Given the description of an element on the screen output the (x, y) to click on. 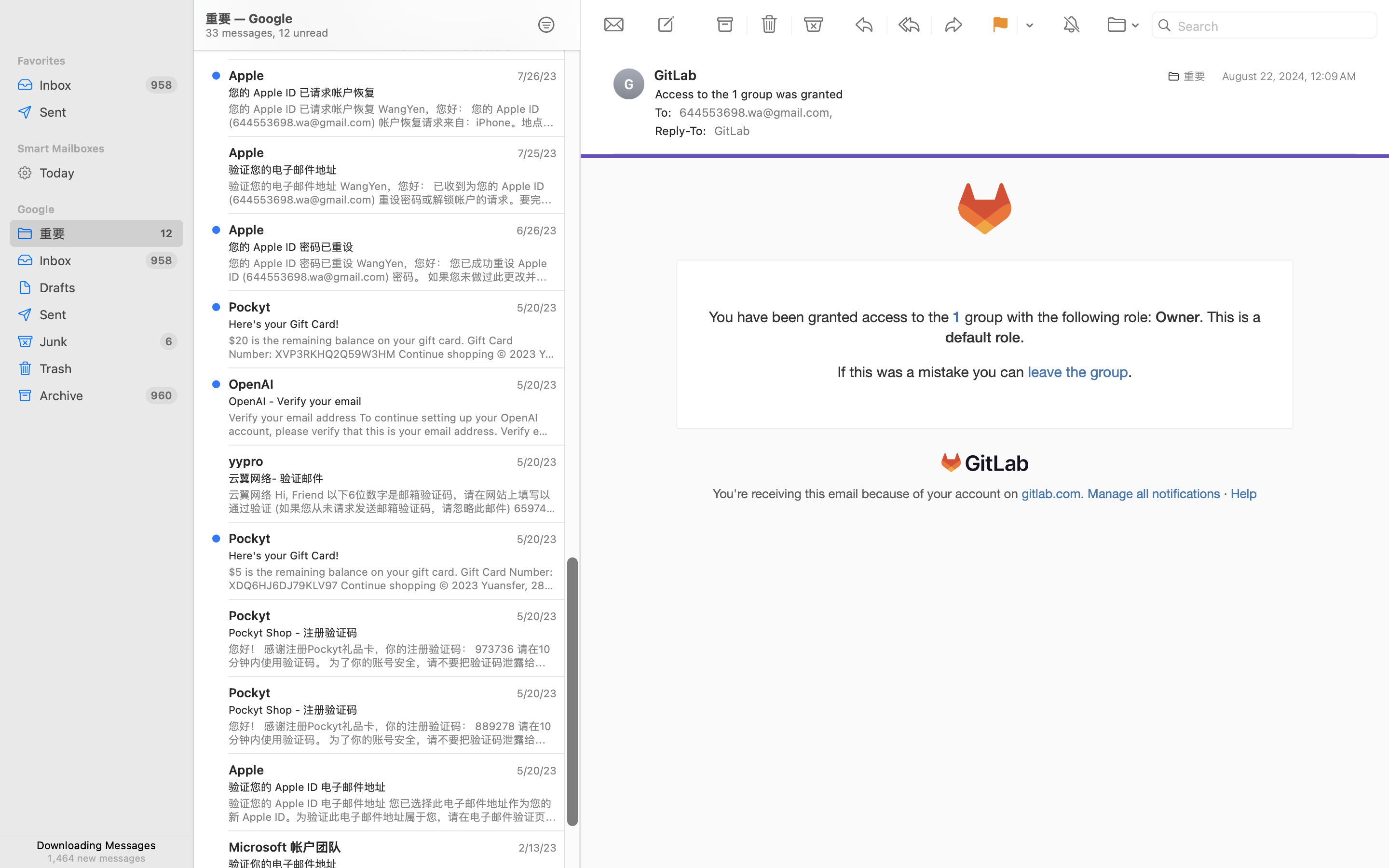
Smart Mailboxes Element type: AXStaticText (96, 148)
gitlab.com Element type: AXStaticText (1051, 493)
您好！ 感谢注册Pockyt礼品卡，你的注册验证码： 889278 请在10分钟内使用验证码。 为了你的账号安全，请不要把验证码泄露给其他人，谨防被骗。 如果这不是你的请求，请忽略此邮件。 顺颂商祺, Pockyt礼品卡 浏览 shop.pockyt.io 了解更多礼品卡资讯 Element type: AXStaticText (392, 732)
group with the following role: Element type: AXStaticText (1058, 316)
您的 Apple ID 已请求帐户恢复 Element type: AXStaticText (388, 92)
